Given the description of an element on the screen output the (x, y) to click on. 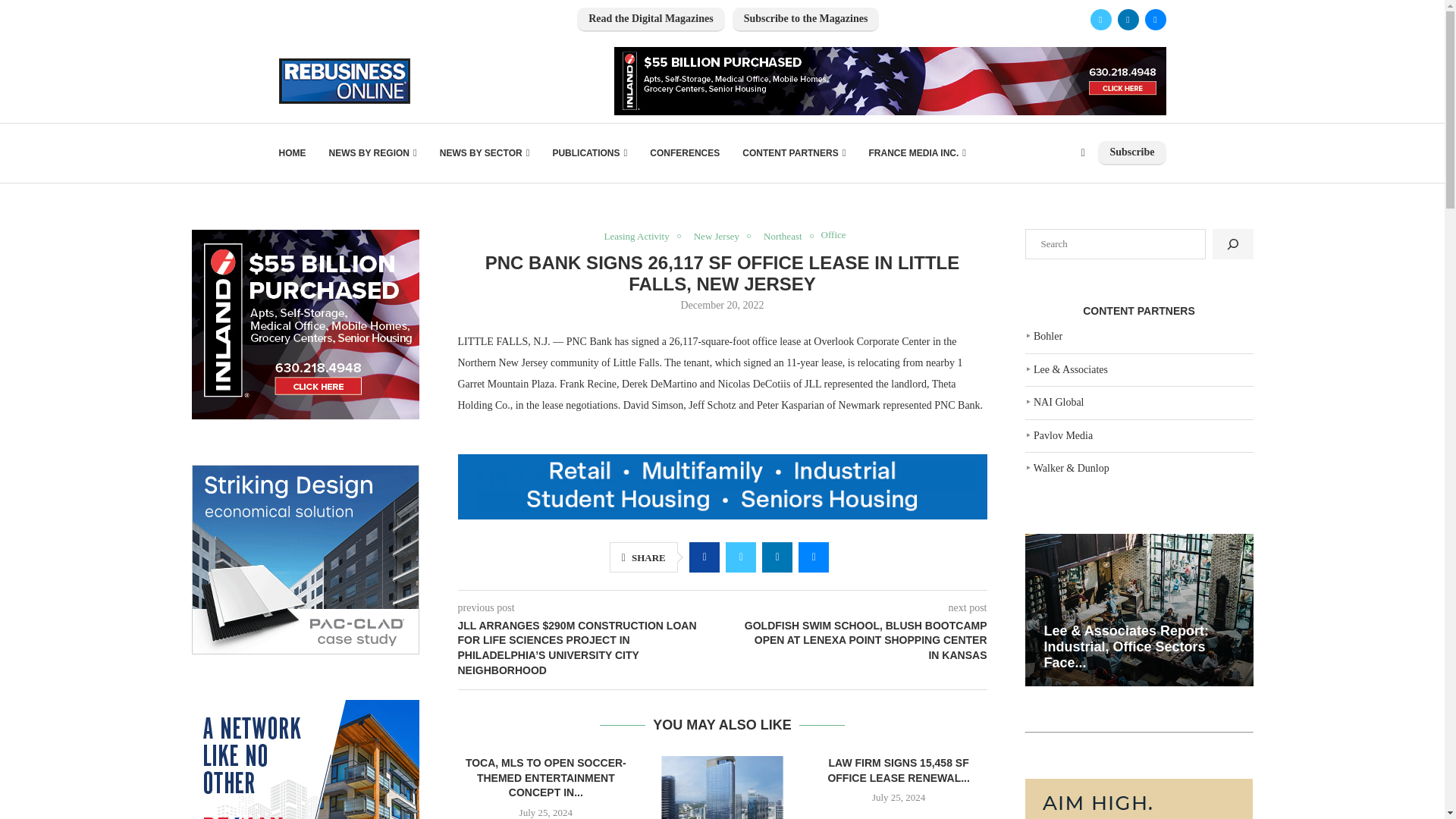
Sign Up for Conference Details (722, 486)
